Given the description of an element on the screen output the (x, y) to click on. 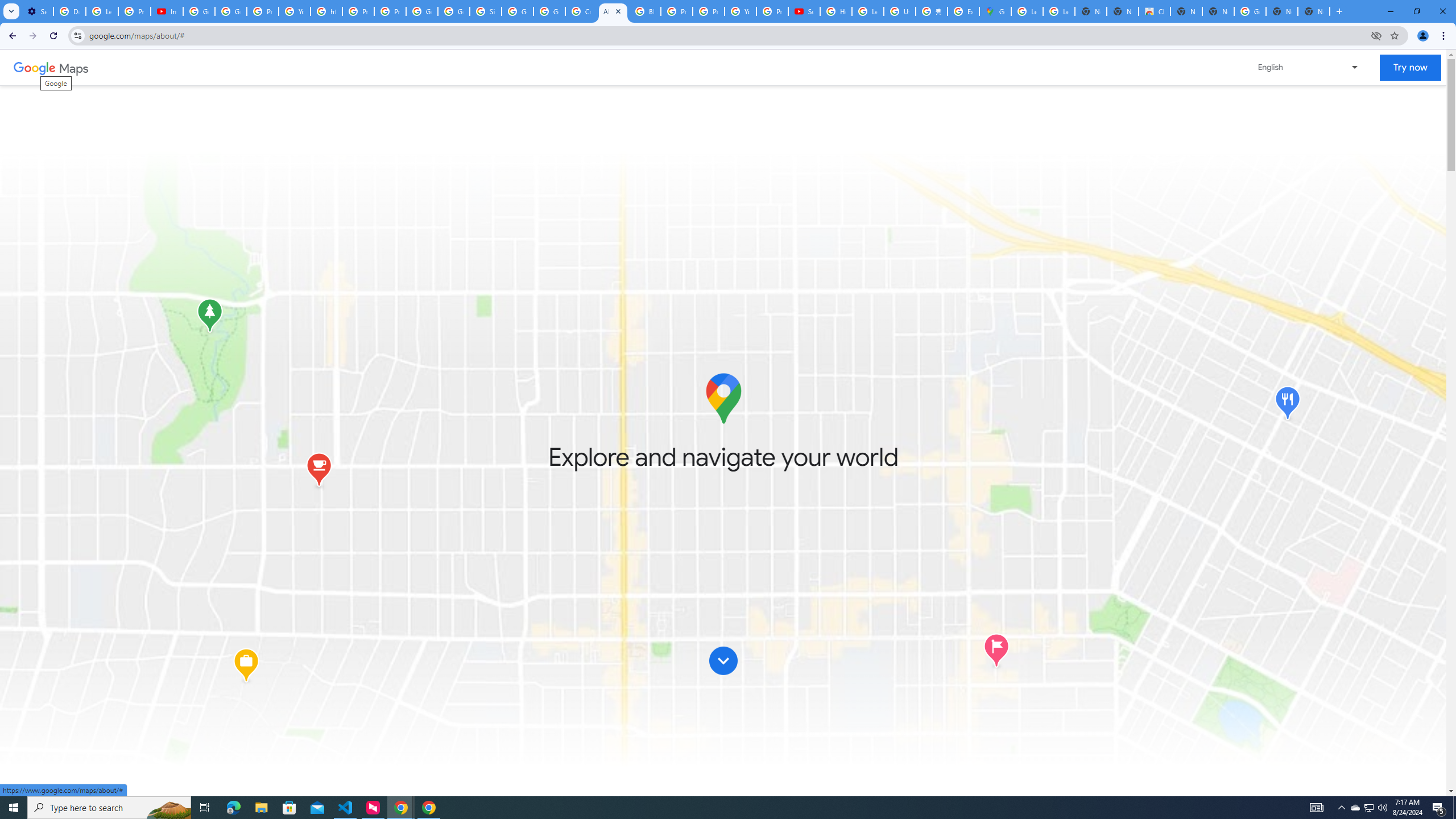
Explore new street-level details - Google Maps Help (963, 11)
Learn how to find your photos - Google Photos Help (101, 11)
Maps (73, 67)
Introduction | Google Privacy Policy - YouTube (166, 11)
Privacy Help Center - Policies Help (358, 11)
Create your Google Account (581, 11)
Skip to Content (723, 660)
